Given the description of an element on the screen output the (x, y) to click on. 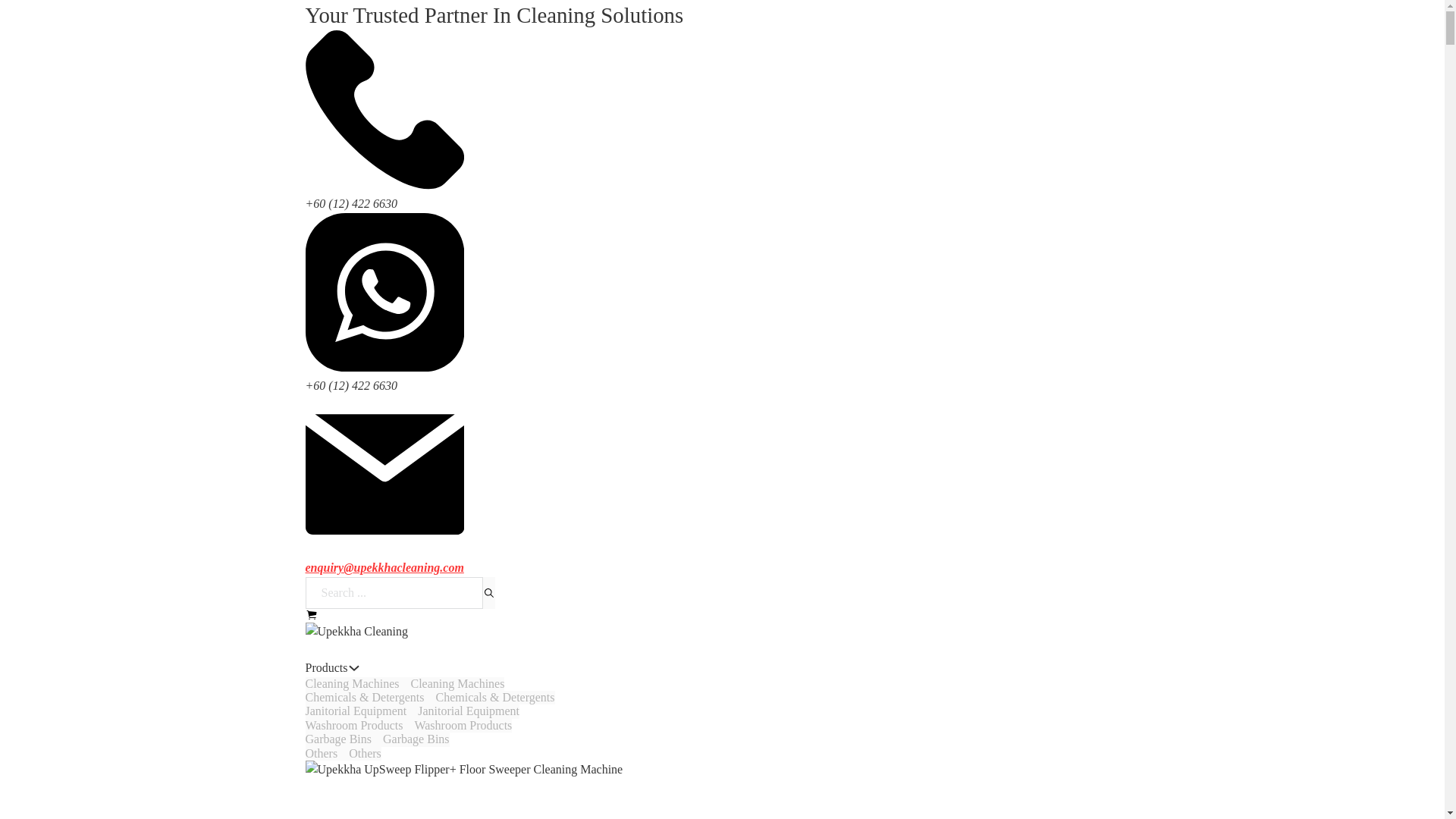
Garbage Bins (415, 739)
Janitorial Equipment (376, 739)
Cleaning Machines (468, 711)
Others (411, 711)
Washroom Products (456, 684)
Products (342, 753)
